Given the description of an element on the screen output the (x, y) to click on. 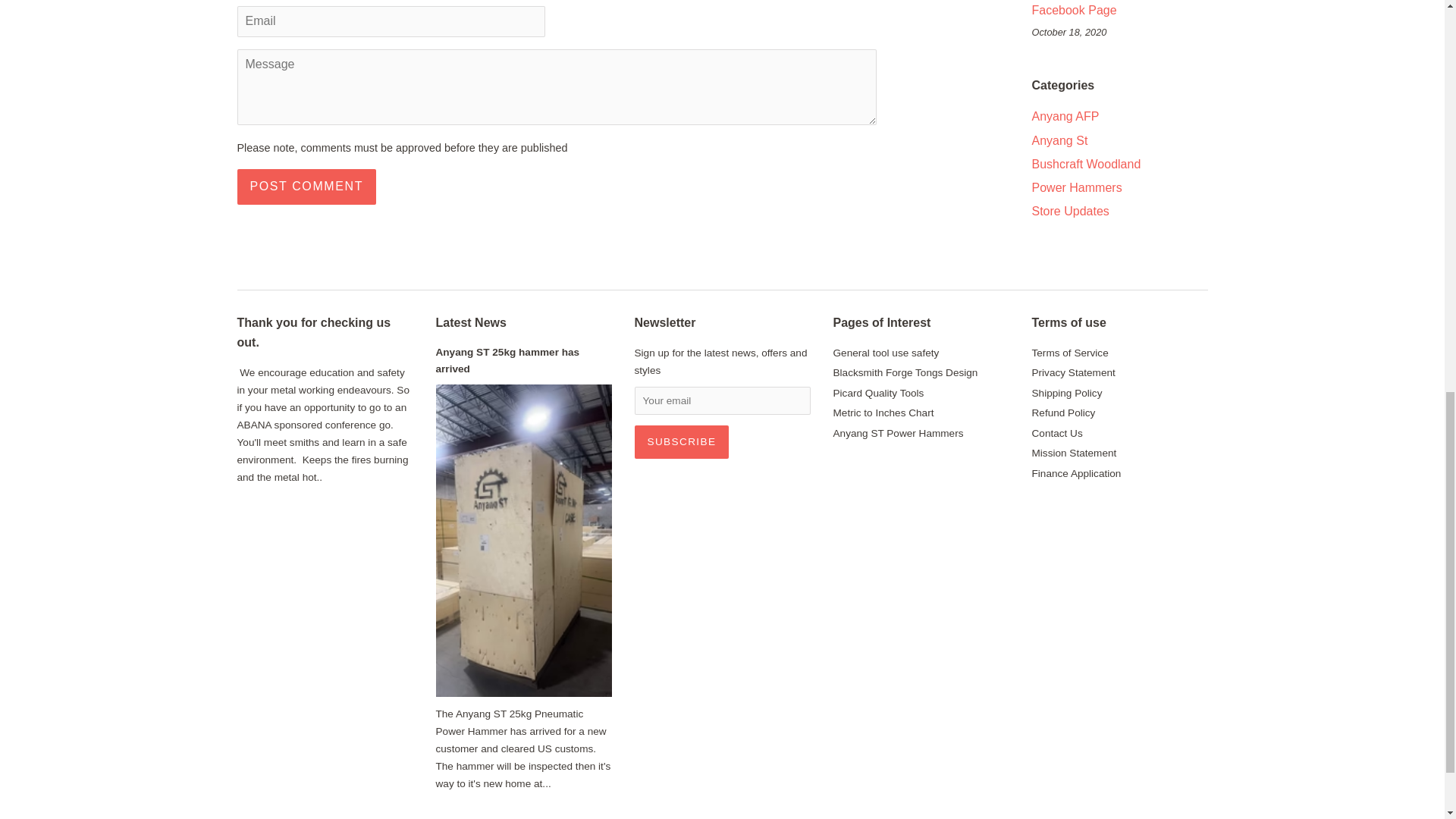
Show articles tagged Anyang AFP (1064, 115)
Subscribe (681, 441)
Show articles tagged Bushcraft Woodland (1085, 164)
Show articles tagged Store Updates (1069, 210)
Show articles tagged Power Hammers (1075, 187)
Post comment (305, 186)
Show articles tagged Anyang St (1058, 140)
